Given the description of an element on the screen output the (x, y) to click on. 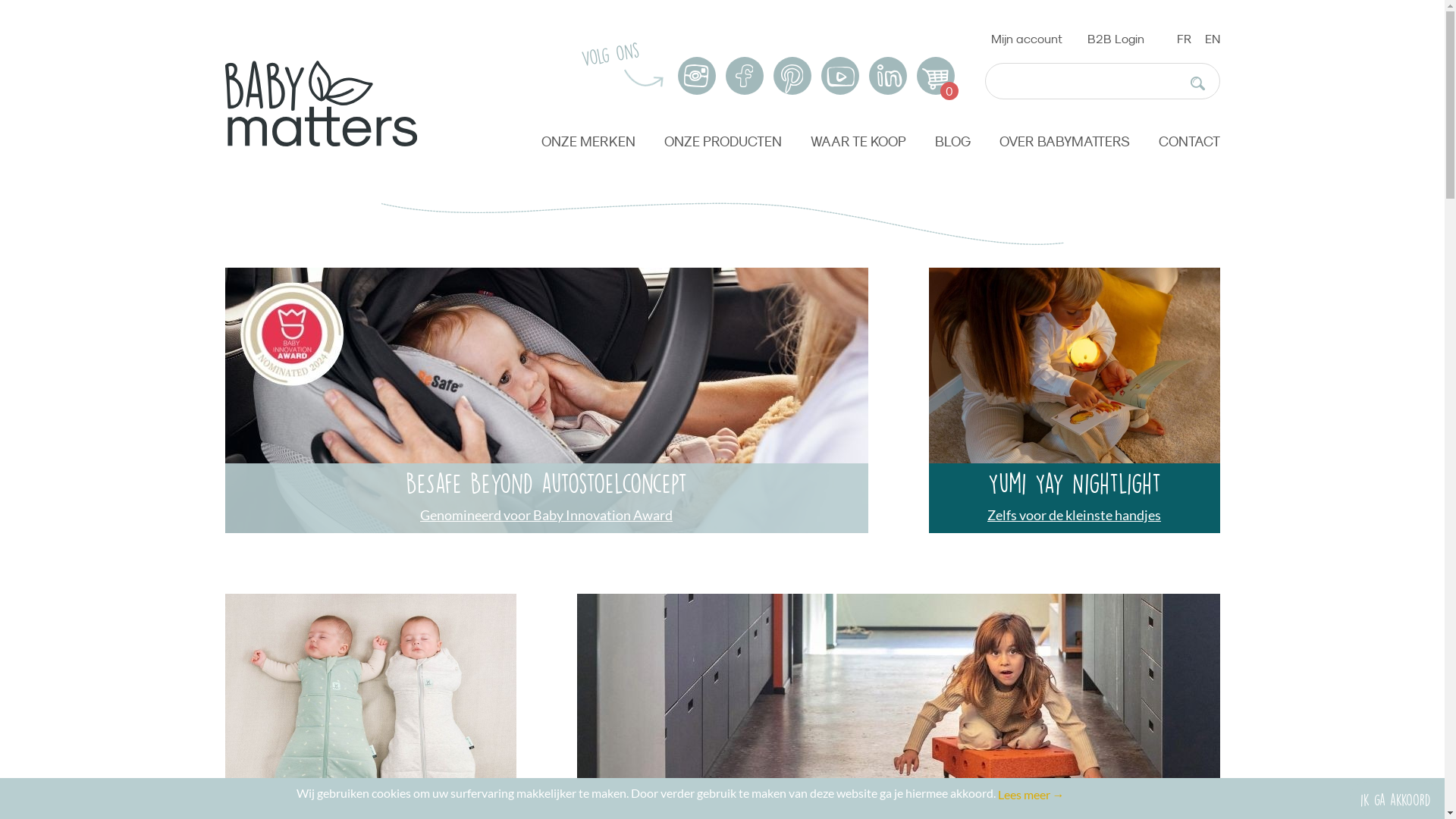
BLOG Element type: text (951, 141)
CONTACT Element type: text (1189, 141)
ik ga akkoord Element type: text (1394, 798)
Yumi Yay Nightlight
Zelfs voor de kleinste handjes Element type: text (1073, 400)
FR Element type: text (1183, 38)
0 Element type: text (934, 75)
ONZE PRODUCTEN Element type: text (722, 141)
B2B Login Element type: text (1115, 38)
OVER BABYMATTERS Element type: text (1064, 141)
EN Element type: text (1211, 38)
WAAR TE KOOP Element type: text (857, 141)
ONZE MERKEN Element type: text (588, 141)
Mijn account Element type: text (1025, 38)
